Given the description of an element on the screen output the (x, y) to click on. 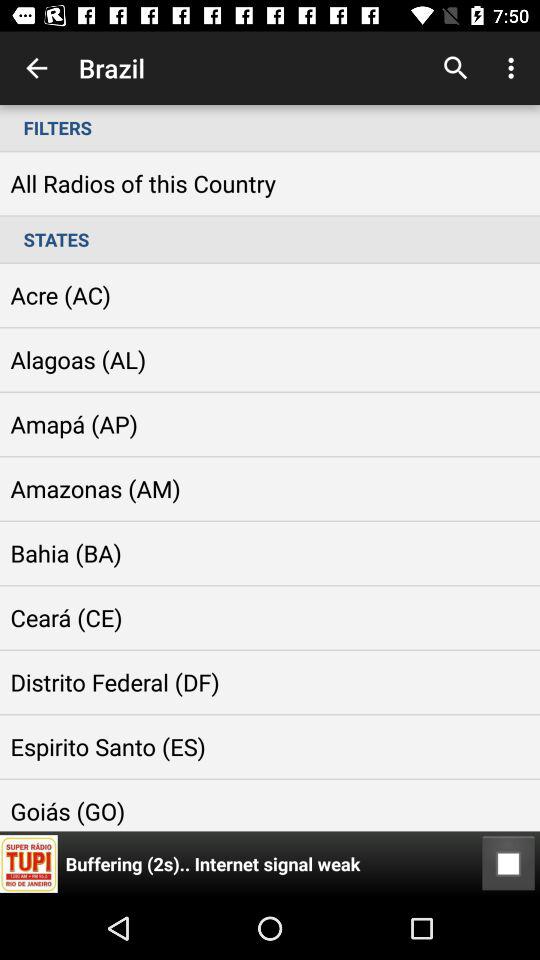
click the icon above filters (36, 68)
